Given the description of an element on the screen output the (x, y) to click on. 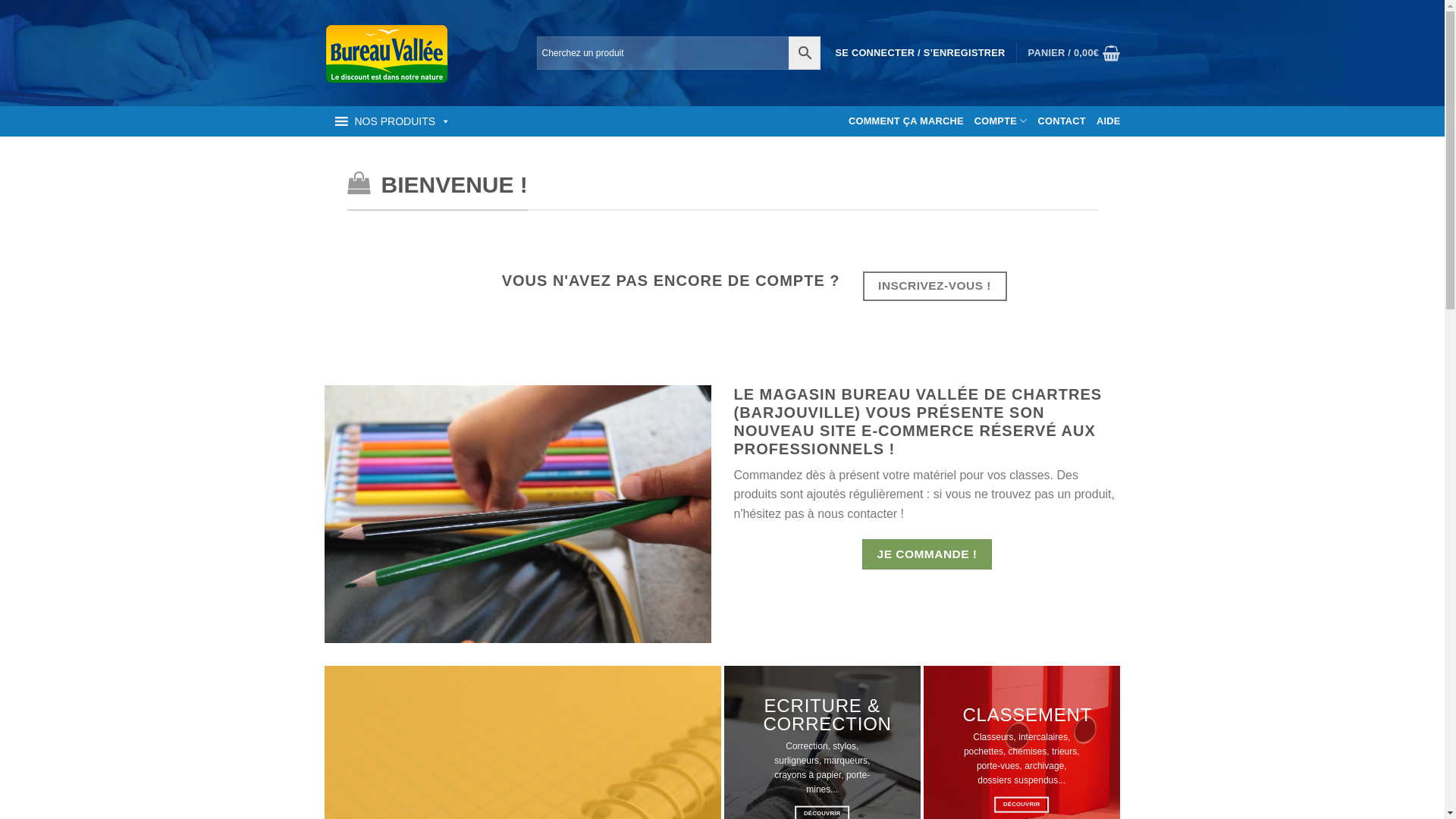
COMPTE Element type: text (1000, 120)
INSCRIVEZ-VOUS ! Element type: text (934, 286)
JE COMMANDE ! Element type: text (926, 553)
NOS PRODUITS Element type: text (391, 121)
CONTACT Element type: text (1061, 120)
AIDE Element type: text (1108, 120)
